Given the description of an element on the screen output the (x, y) to click on. 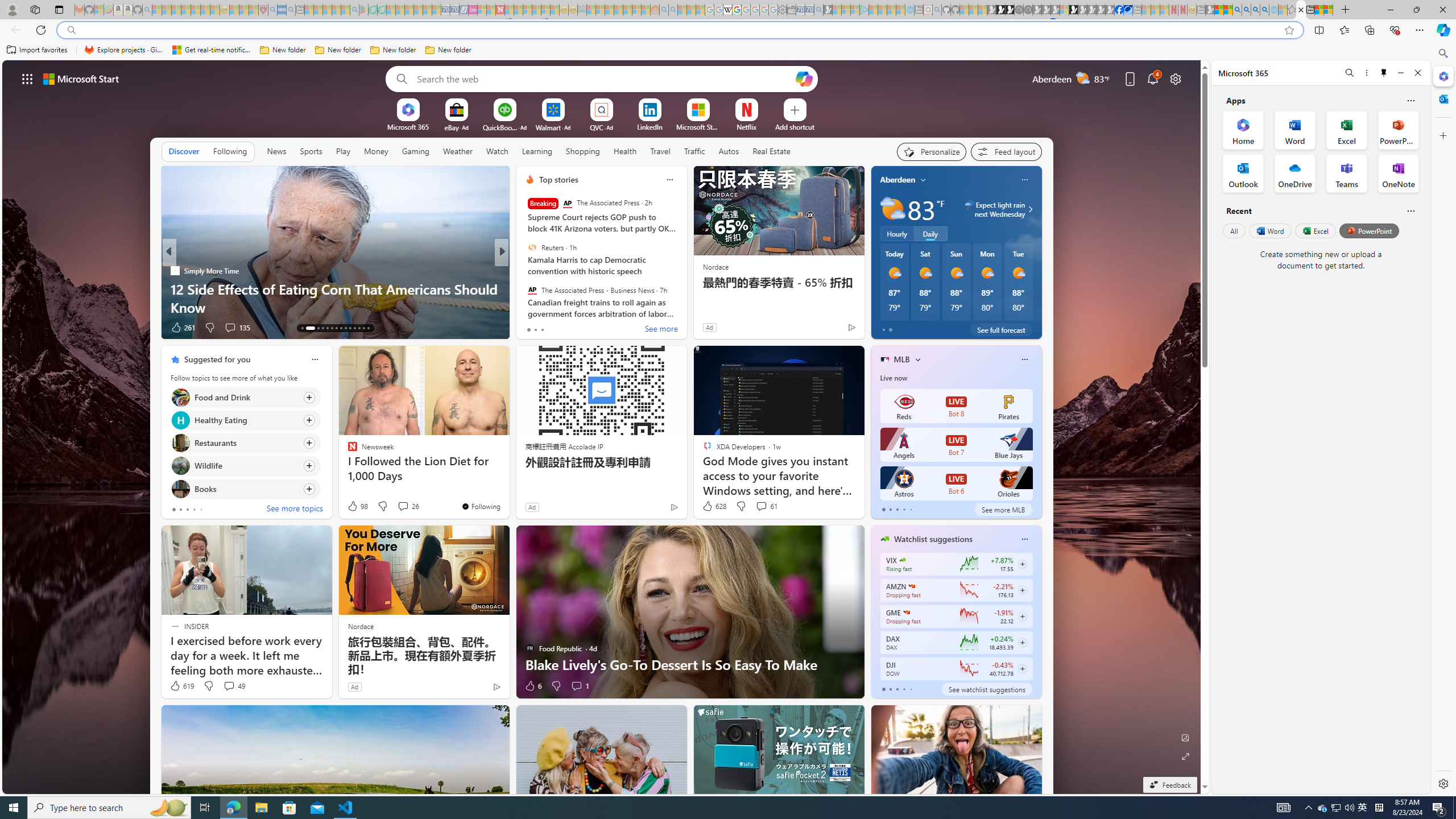
MLB (901, 359)
AutomationID: tab-17 (327, 328)
Restaurants (180, 443)
AutomationID: backgroundImagePicture (601, 426)
View comments 49 Comment (228, 685)
Body Network (524, 270)
619 Like (181, 685)
